Given the description of an element on the screen output the (x, y) to click on. 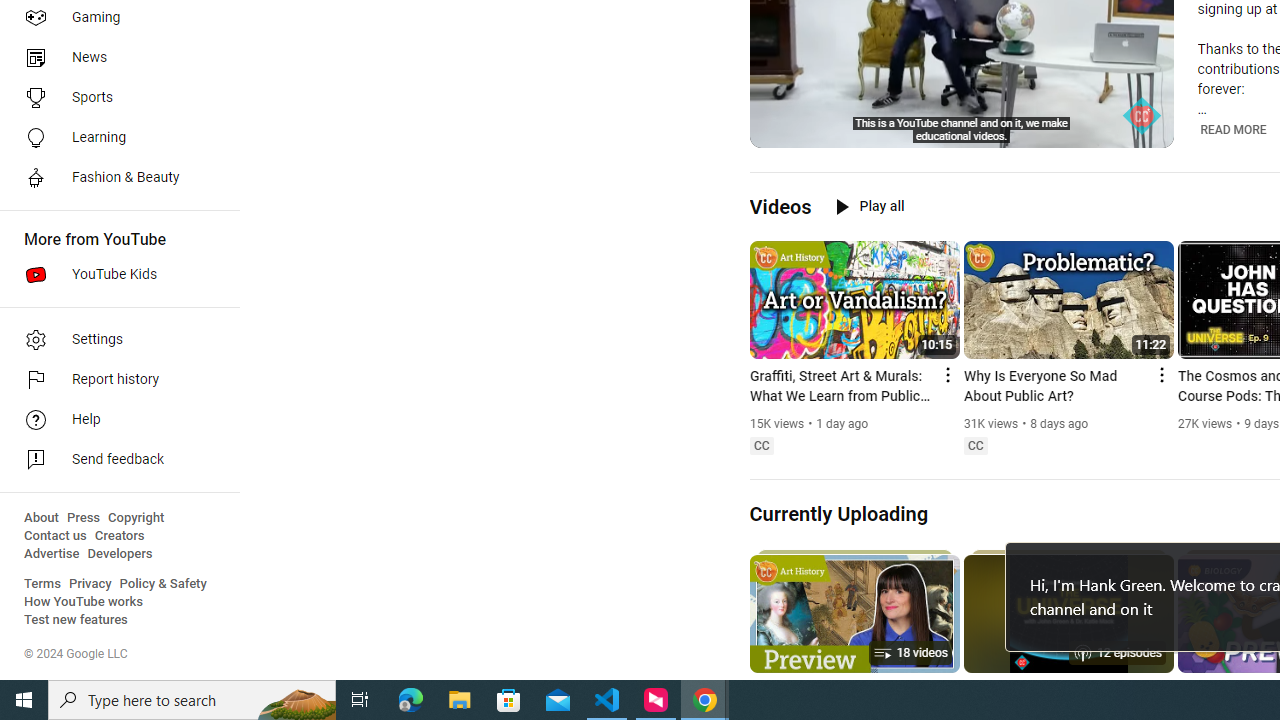
YouTube Kids (113, 274)
Play all (870, 206)
Full screen (f) (1143, 130)
Action menu (1160, 374)
Videos (779, 206)
News (113, 57)
Contact us (55, 536)
READ MORE (1233, 129)
Press (83, 518)
